Given the description of an element on the screen output the (x, y) to click on. 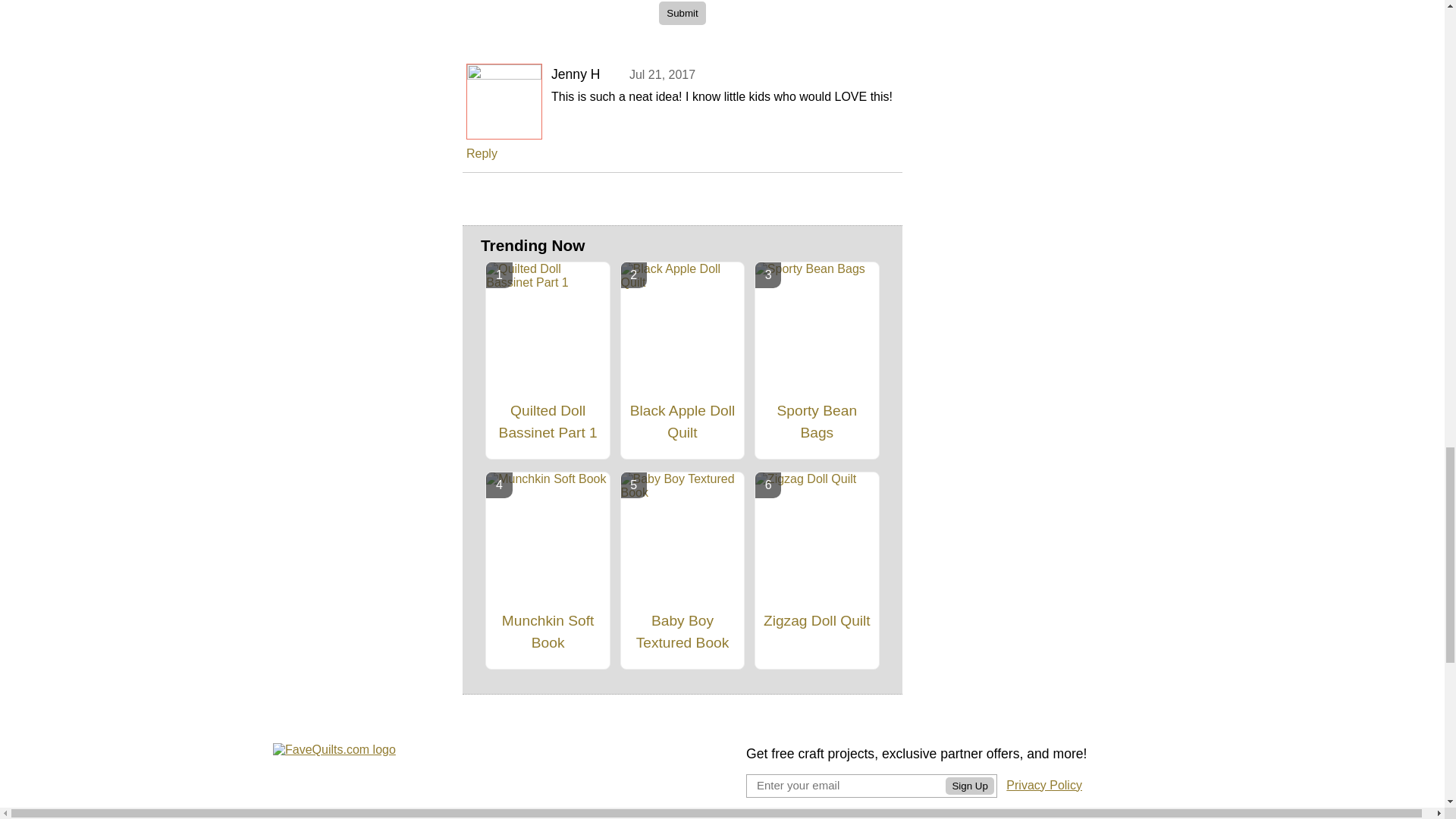
Submit (681, 13)
